Given the description of an element on the screen output the (x, y) to click on. 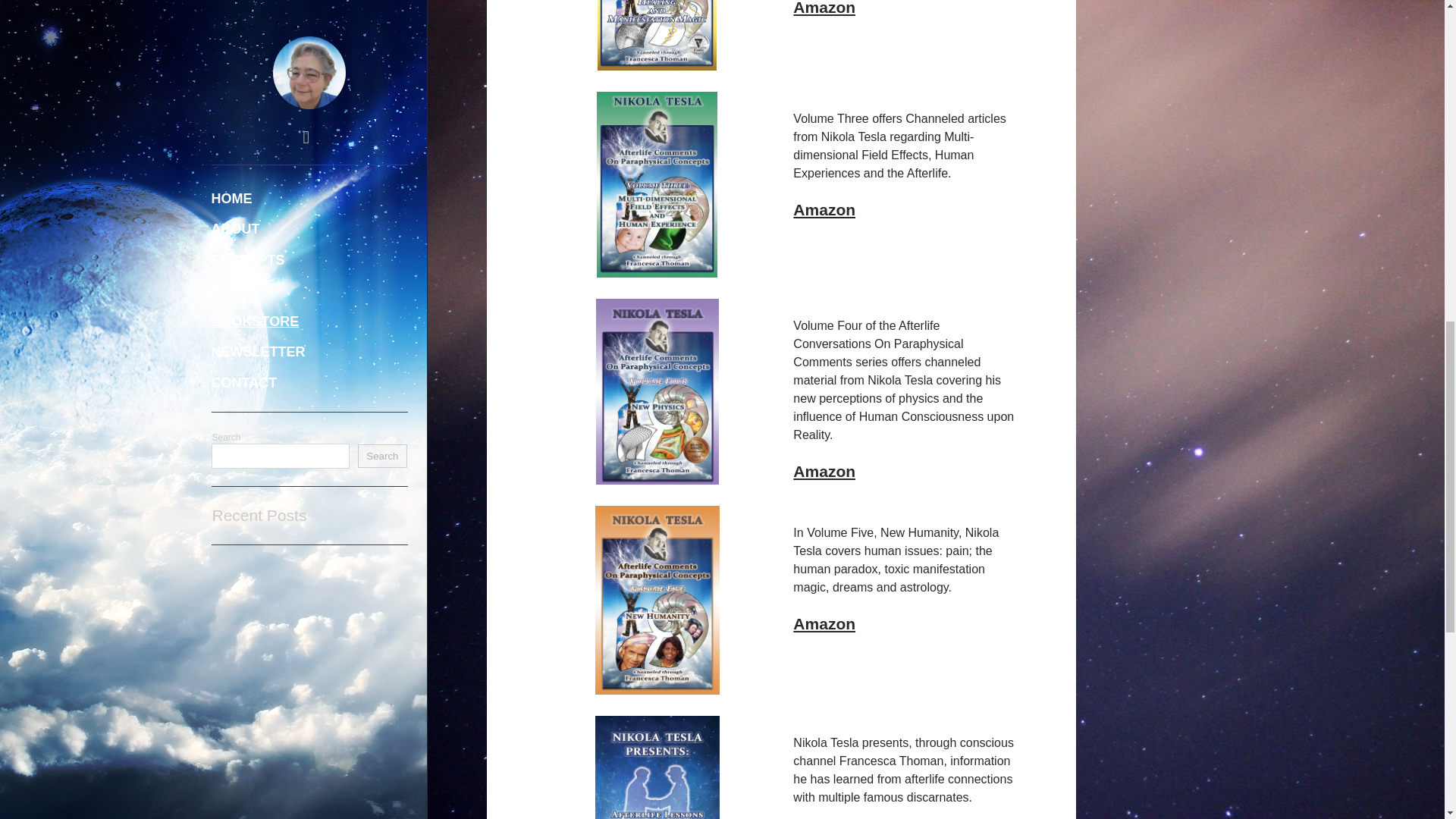
Amazon (824, 470)
Amazon (824, 7)
Amazon (824, 623)
Amazon (824, 209)
